Given the description of an element on the screen output the (x, y) to click on. 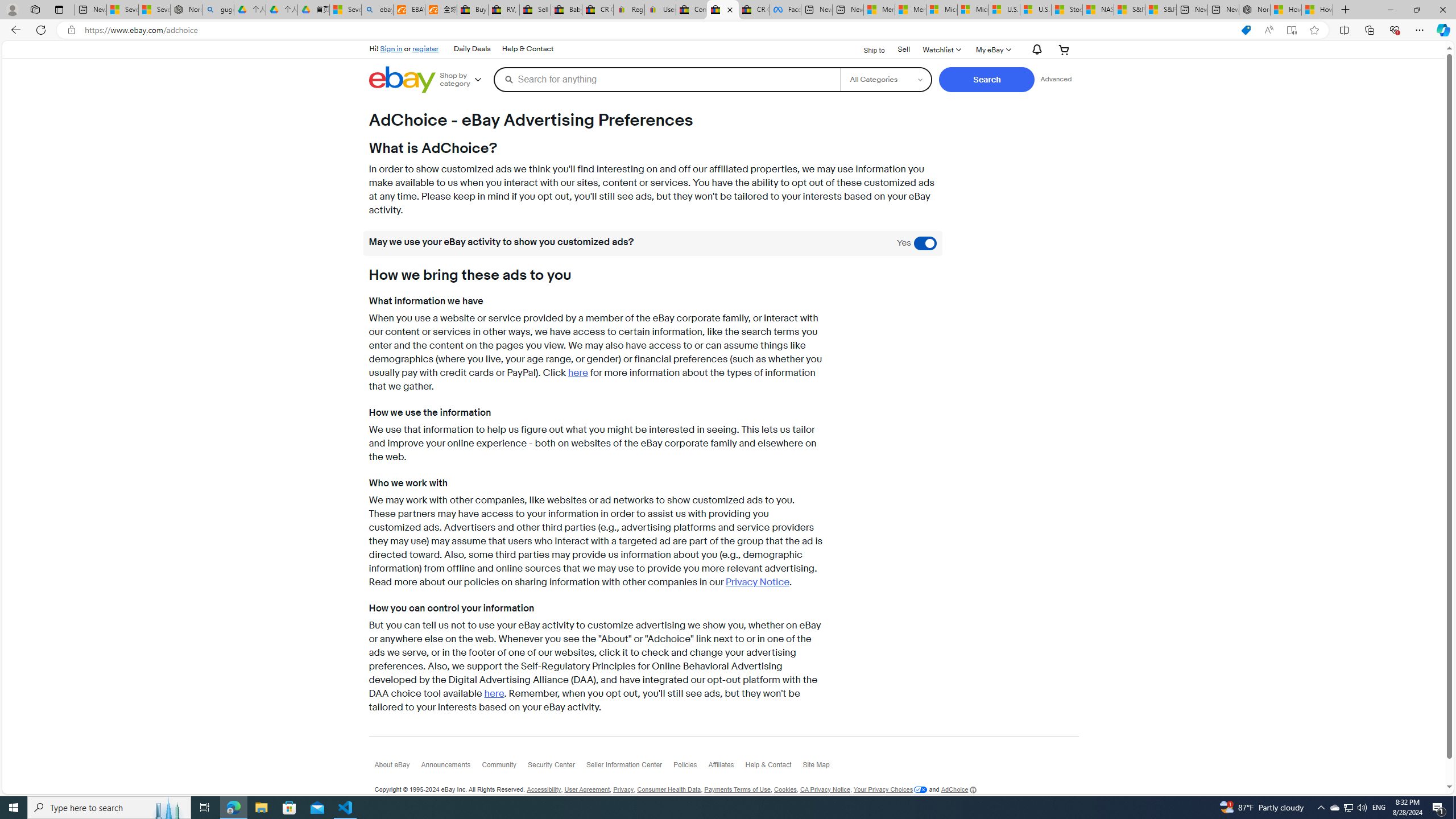
register (425, 48)
Affiliates (726, 767)
Cookies (785, 789)
eBay Home (401, 79)
here (493, 693)
Search for anything (666, 78)
